Given the description of an element on the screen output the (x, y) to click on. 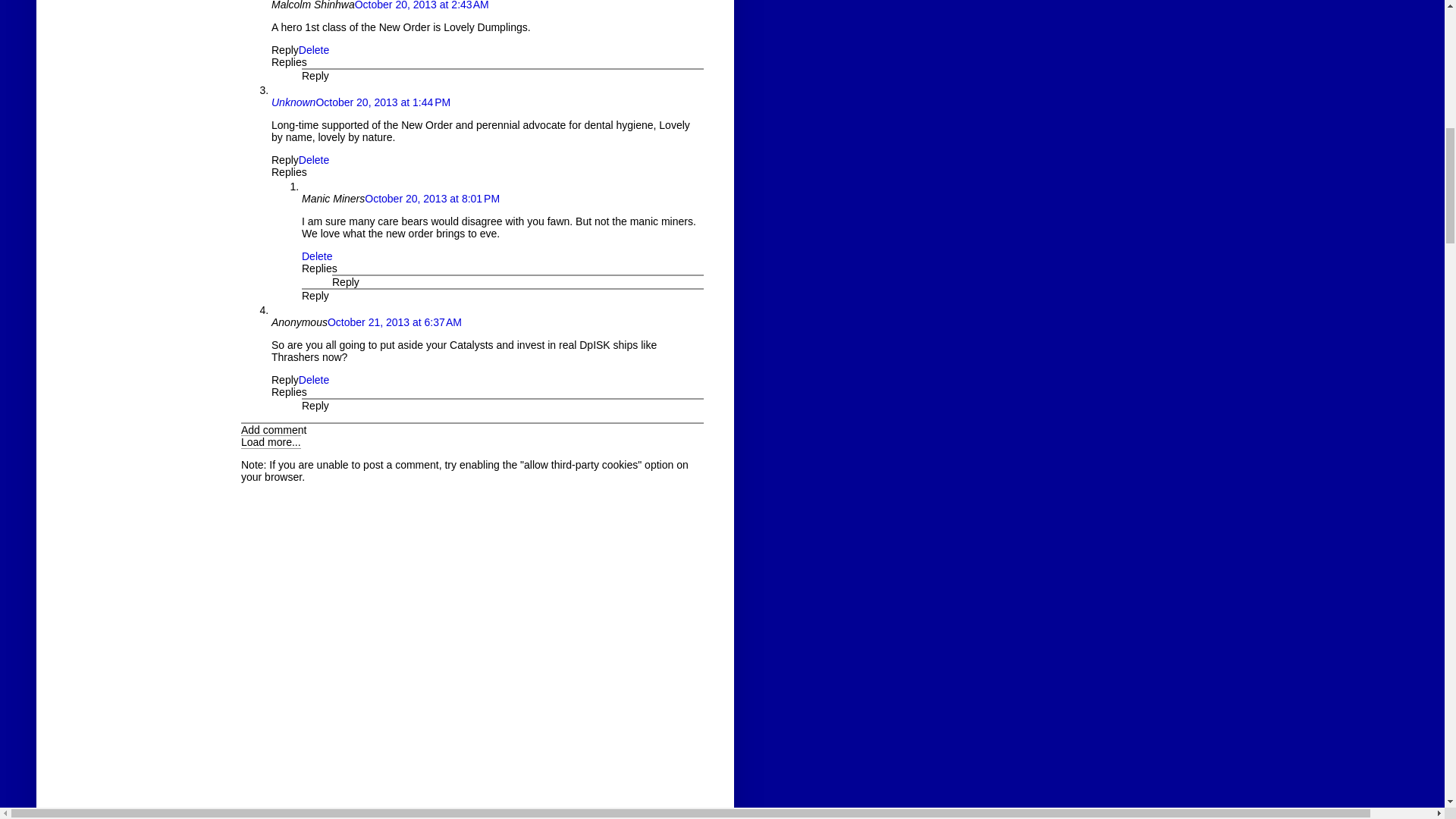
Older Post (334, 816)
Unknown (292, 102)
Delete (313, 159)
Newer Post (271, 816)
Reply (284, 159)
Replies (288, 172)
Reply (315, 75)
Delete (316, 256)
Replies (288, 61)
Reply (284, 50)
Delete (313, 50)
